Given the description of an element on the screen output the (x, y) to click on. 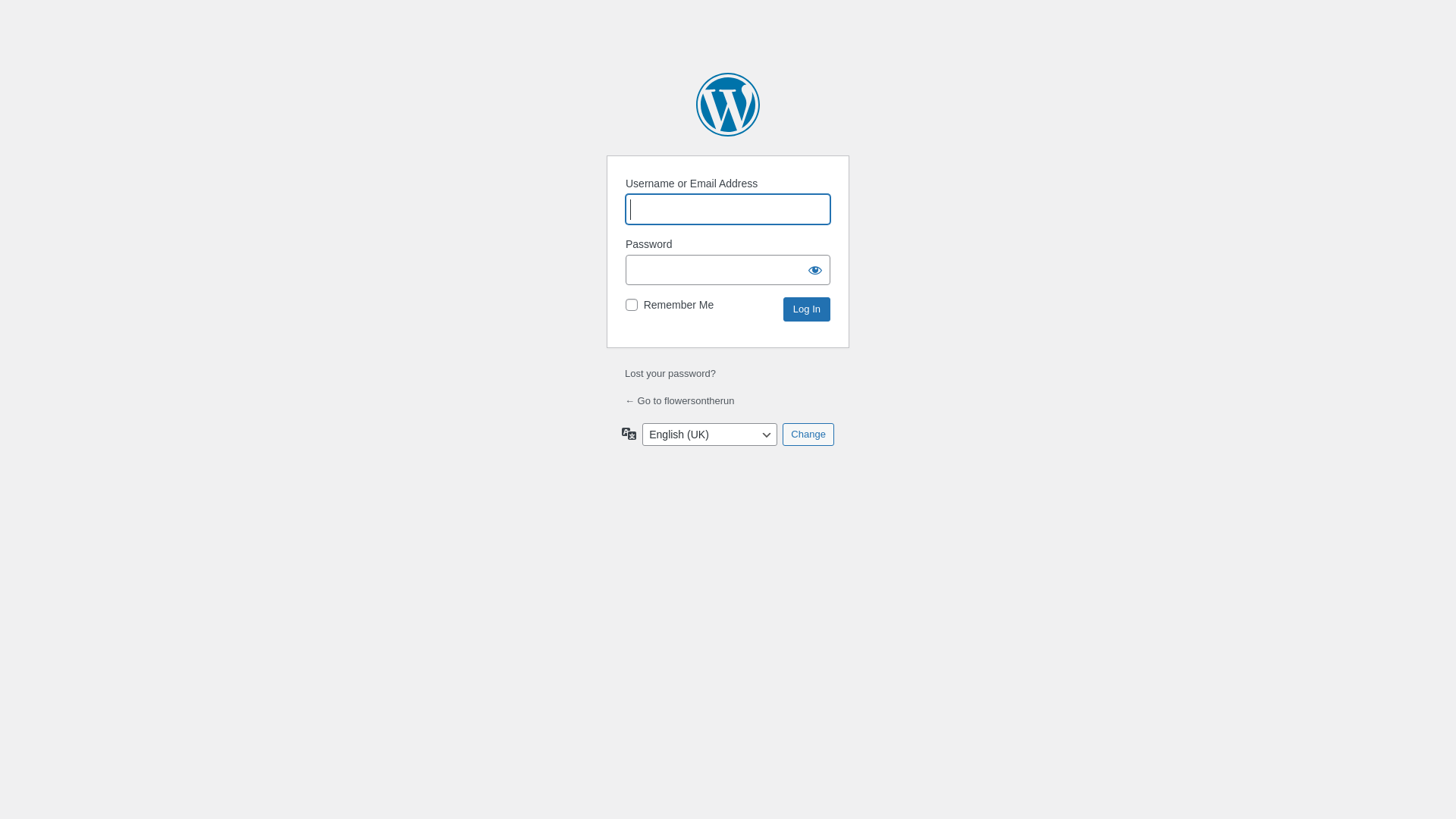
Change Element type: text (808, 434)
Log In Element type: text (806, 309)
Lost your password? Element type: text (669, 373)
http://www.flowersontherun.com.au Element type: text (727, 104)
